Given the description of an element on the screen output the (x, y) to click on. 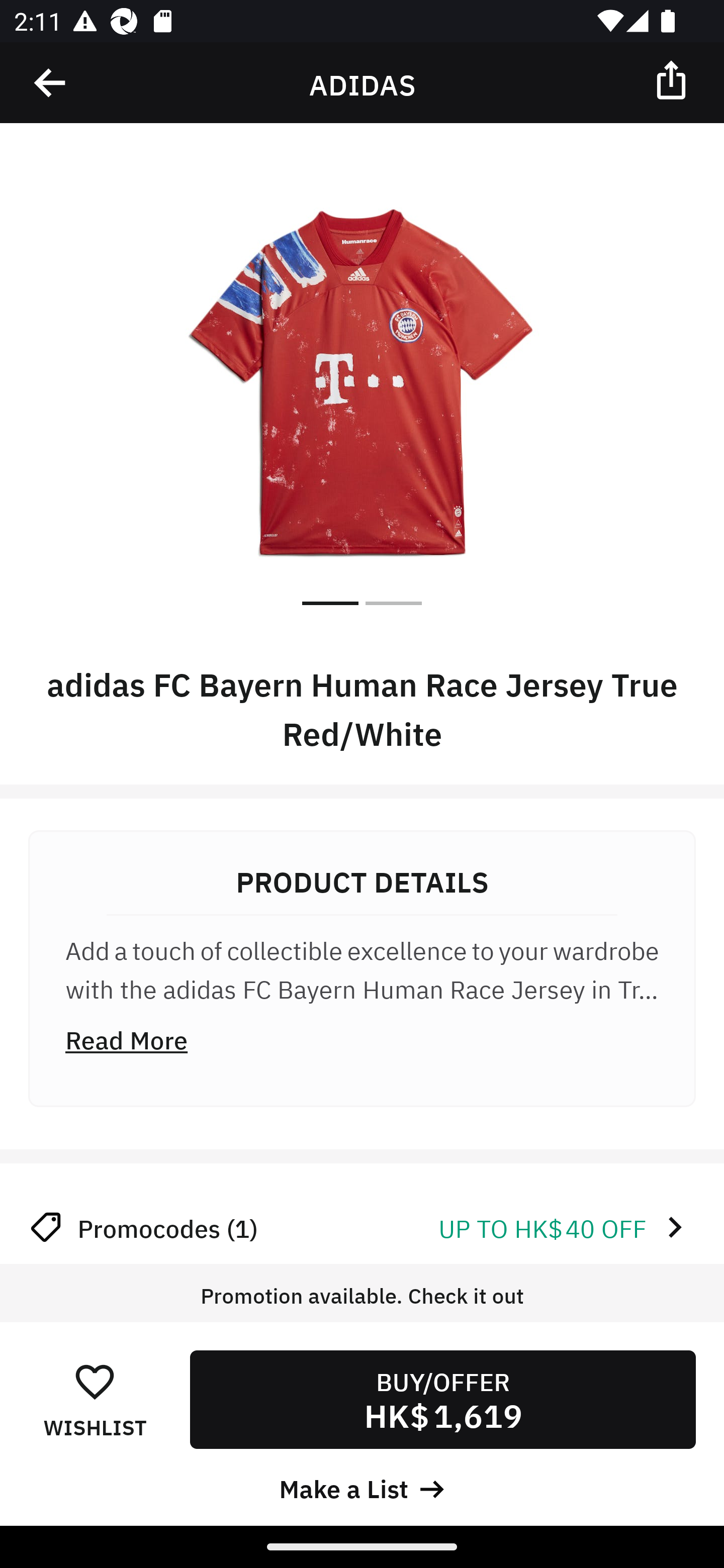
 (50, 83)
 (672, 79)
Promocodes (1) UP TO HK$ 40 OFF  (361, 1226)
BUY/OFFER HK$ 1,619 (442, 1399)
󰋕 (94, 1380)
Make a List (361, 1486)
